Given the description of an element on the screen output the (x, y) to click on. 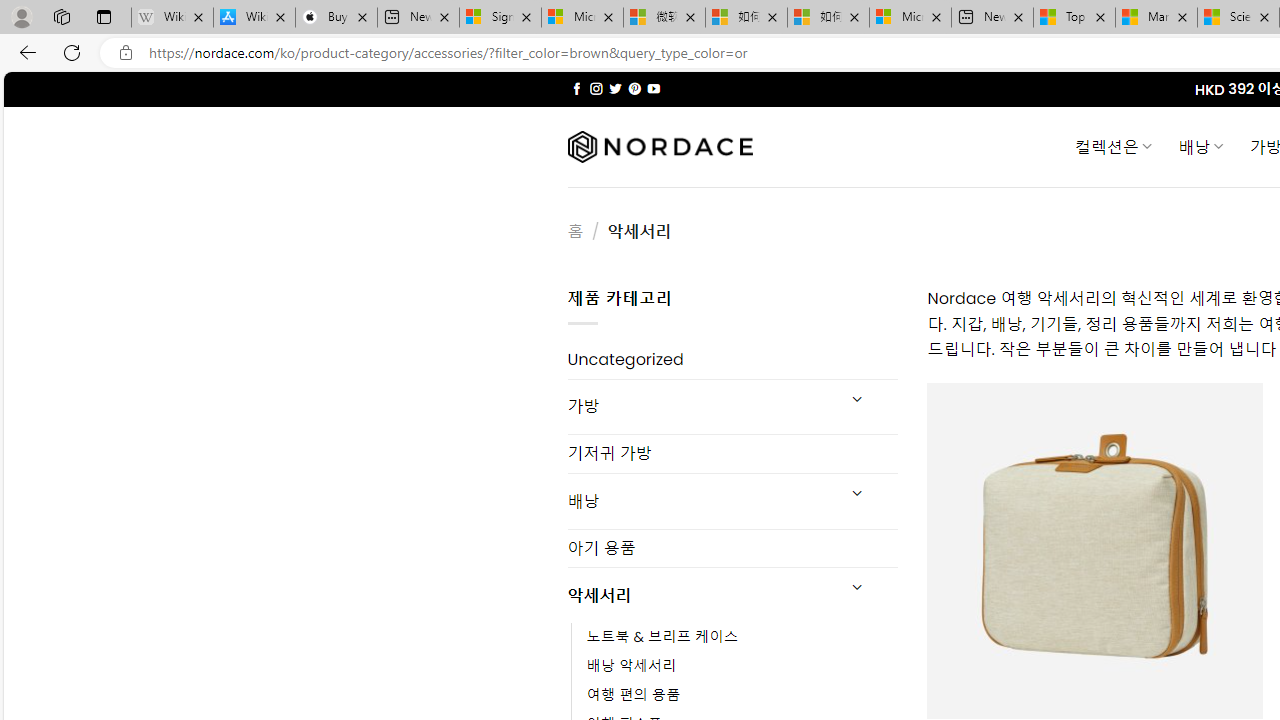
Follow on Pinterest (634, 88)
Follow on Instagram (596, 88)
Follow on YouTube (653, 88)
